Given the description of an element on the screen output the (x, y) to click on. 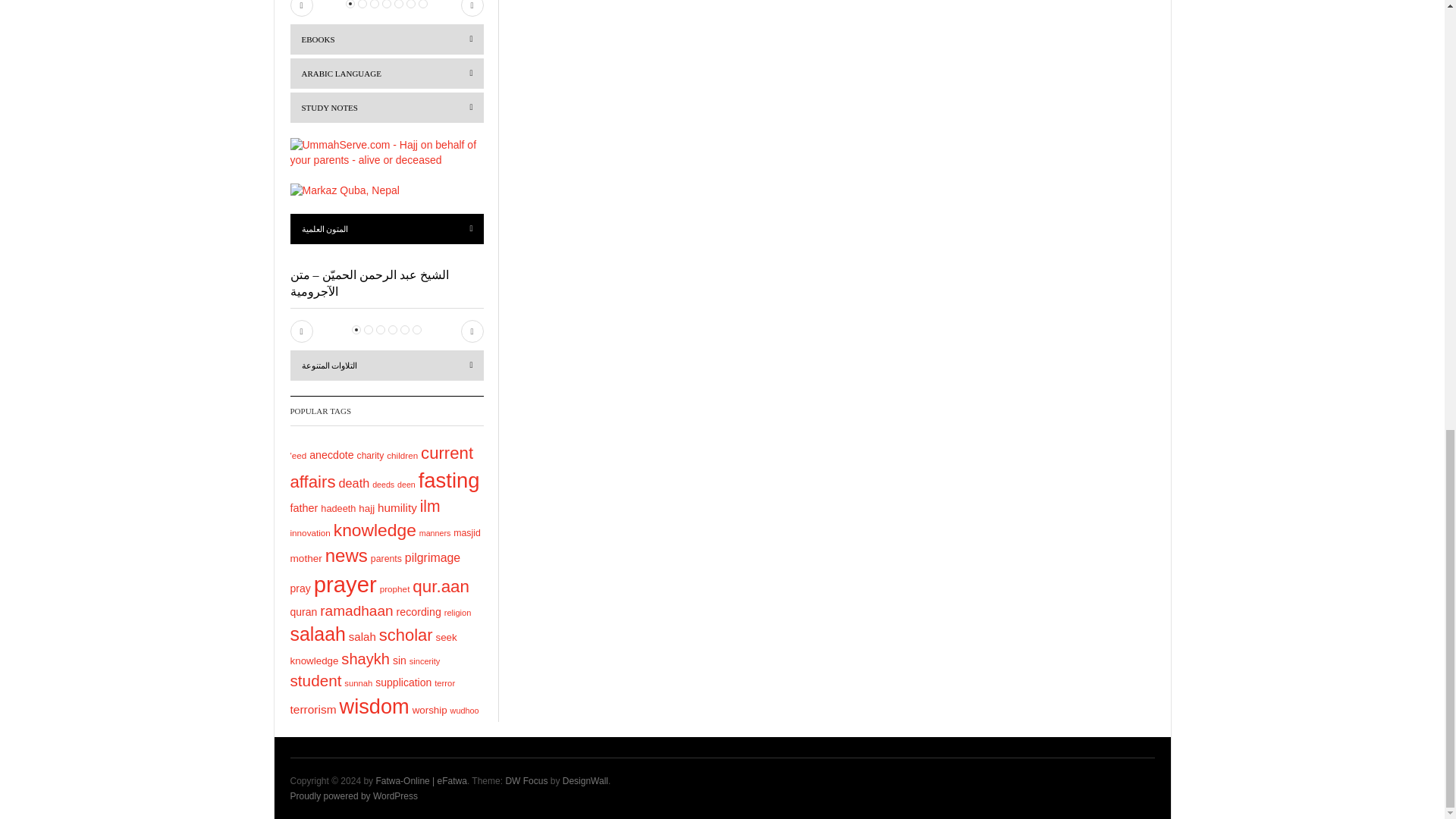
WordPress News Theme (526, 780)
Markaz Quba, Nepal (343, 191)
